Given the description of an element on the screen output the (x, y) to click on. 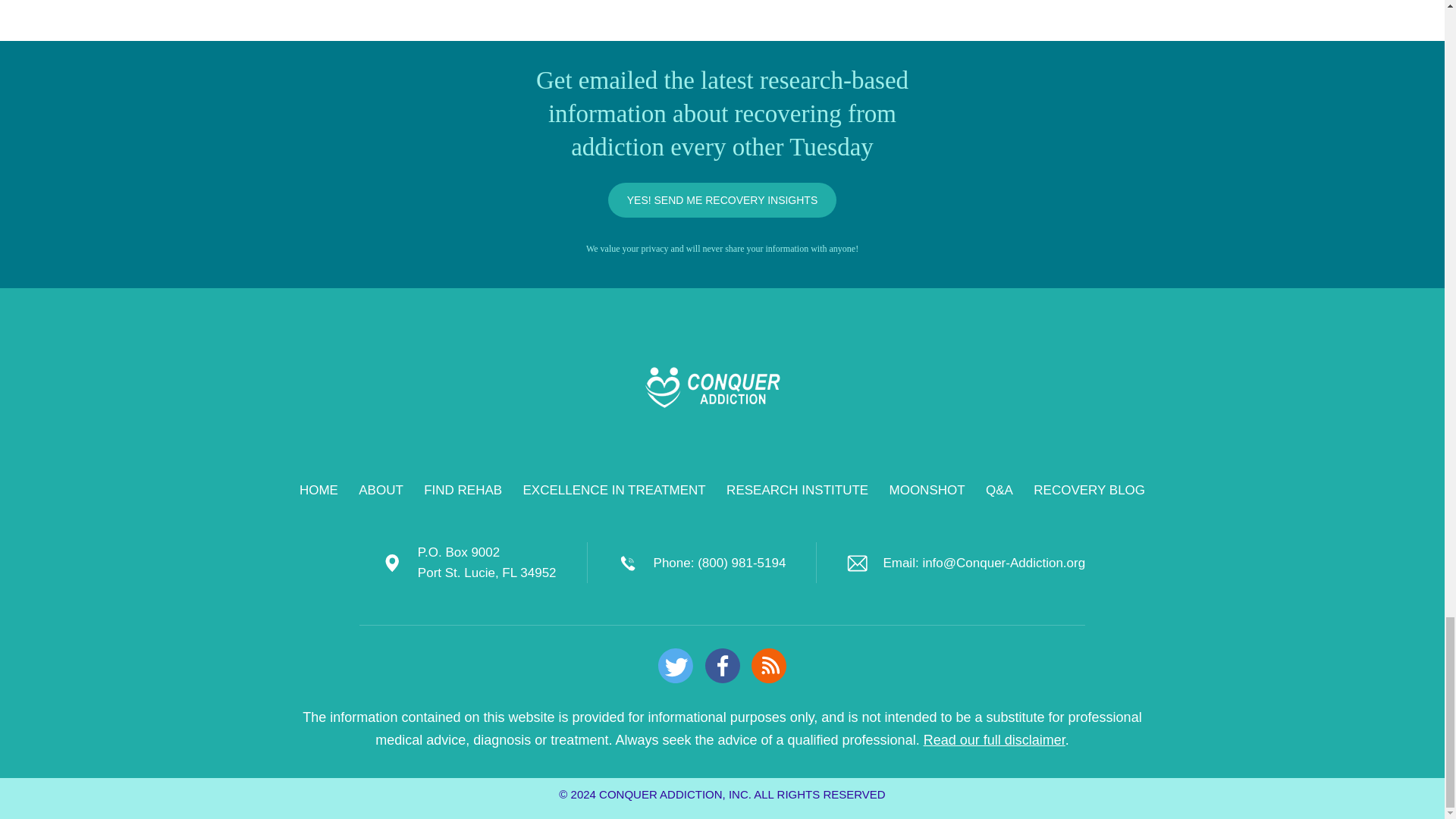
MOONSHOT (927, 490)
Read our full disclaimer (994, 739)
Blog (768, 665)
ABOUT (380, 490)
Blog (768, 665)
Twitter (675, 665)
HOME (318, 490)
YES! SEND ME RECOVERY INSIGHTS (722, 199)
RECOVERY BLOG (1088, 490)
FIND REHAB (462, 490)
EXCELLENCE IN TREATMENT (614, 490)
LinkedIn (721, 665)
Facebook (721, 665)
Twitter (675, 665)
RESEARCH INSTITUTE (796, 490)
